Given the description of an element on the screen output the (x, y) to click on. 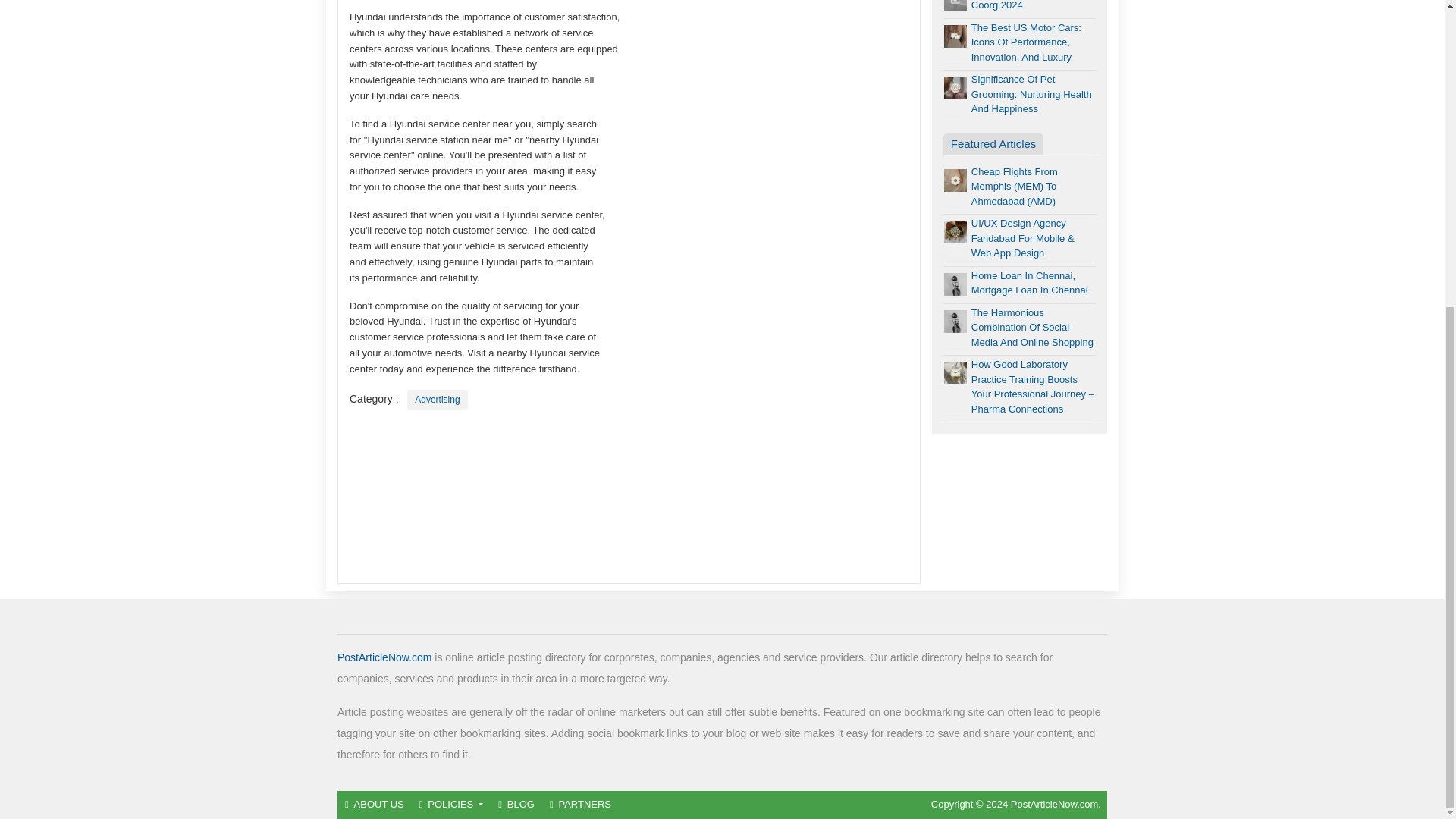
Advertising (437, 399)
Advertising (437, 399)
